Given the description of an element on the screen output the (x, y) to click on. 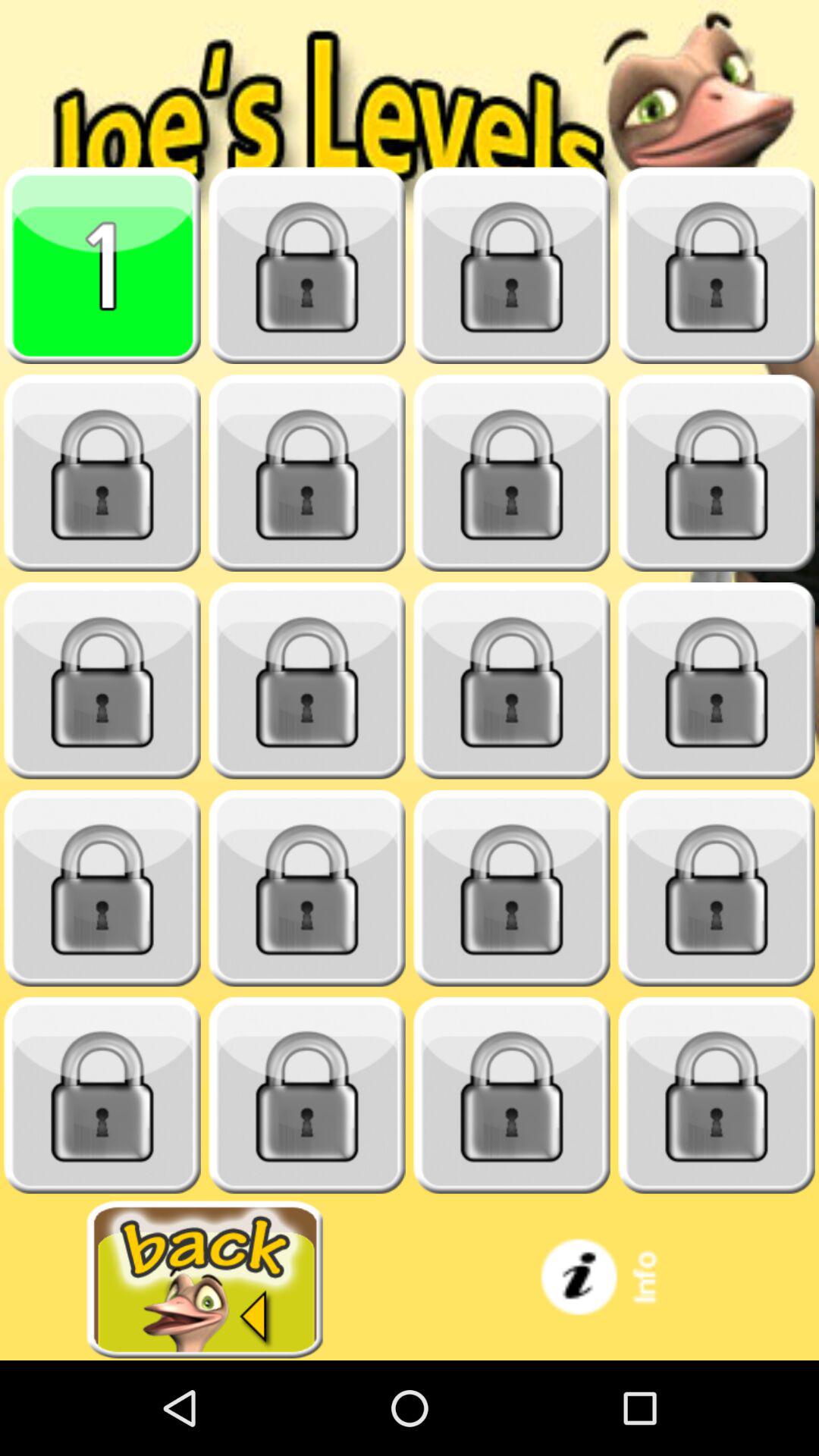
unlock level 11 (511, 680)
